Given the description of an element on the screen output the (x, y) to click on. 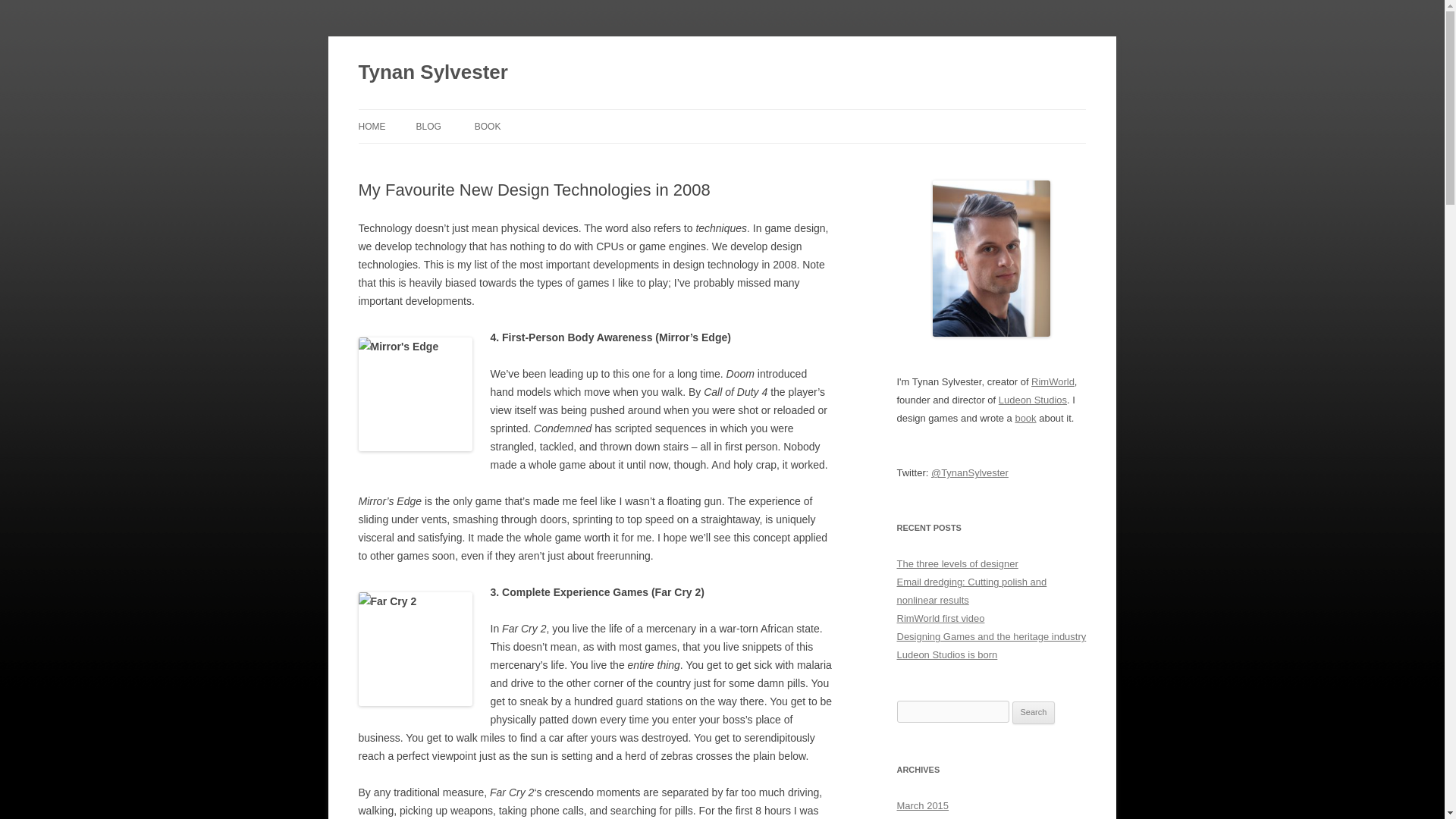
Email dredging: Cutting polish and nonlinear results (971, 591)
BLOG (427, 126)
book (1024, 418)
Ludeon Studios is born (946, 654)
March 2015 (922, 805)
Far Cry 2 (414, 648)
RimWorld (1052, 381)
Mirror's Edge (414, 394)
The three levels of designer (956, 563)
BOOK (487, 126)
Ludeon Studios (1032, 399)
Tynan Sylvester (432, 72)
Search (1033, 712)
RimWorld first video (940, 618)
